Given the description of an element on the screen output the (x, y) to click on. 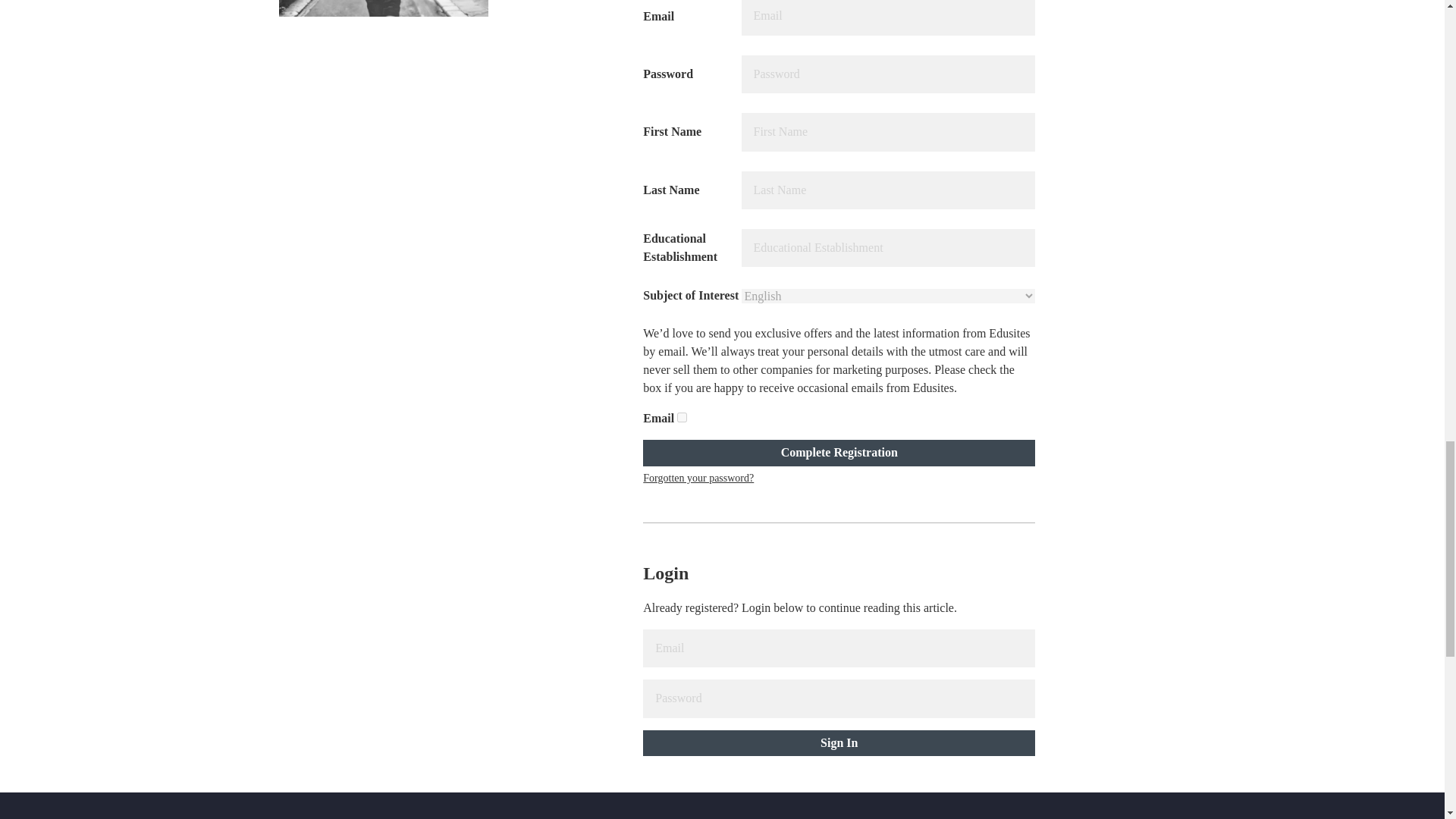
Email (682, 417)
